Given the description of an element on the screen output the (x, y) to click on. 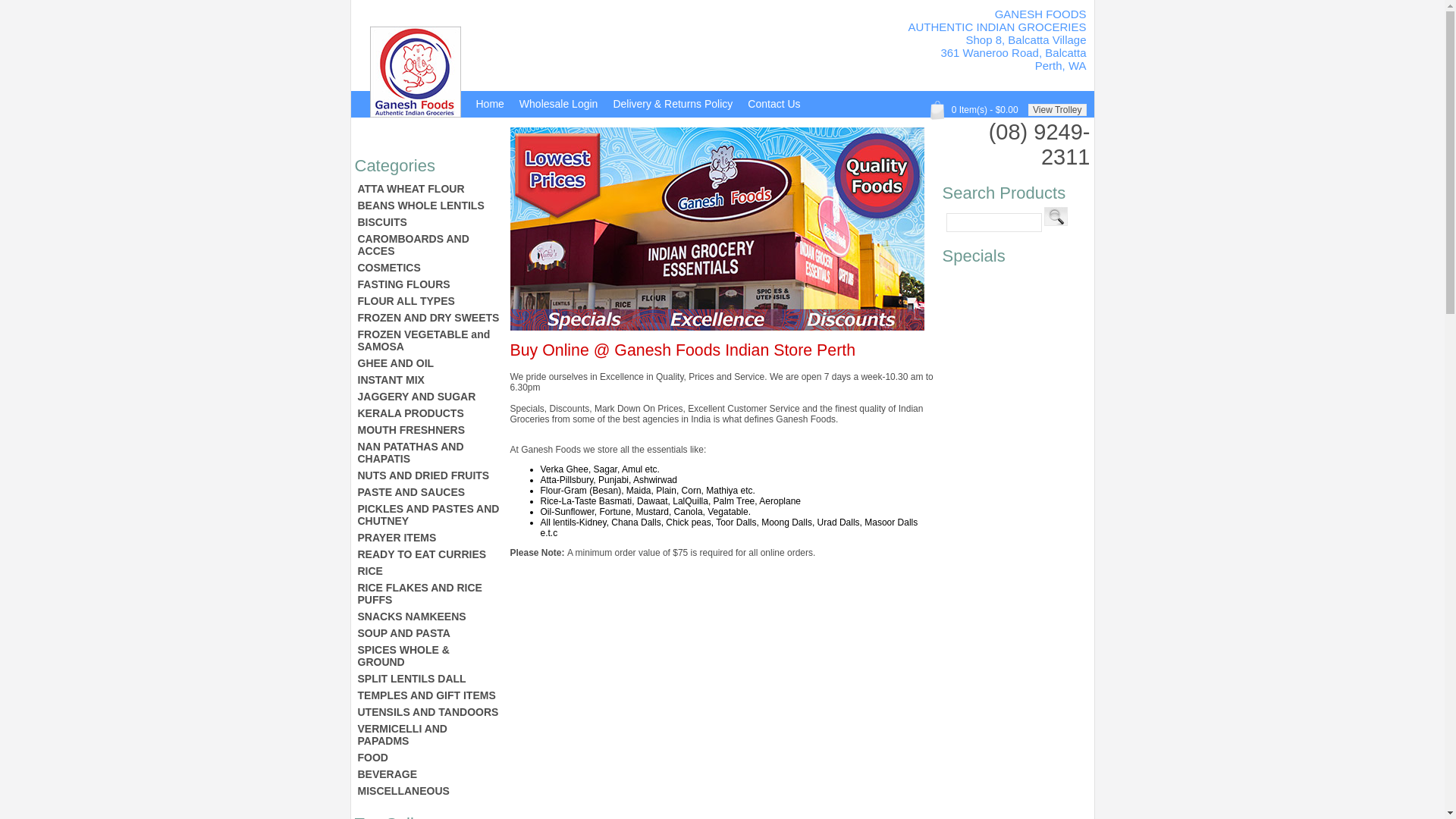
Delivery & Returns Policy Element type: text (672, 106)
READY TO EAT CURRIES Element type: text (428, 554)
COSMETICS Element type: text (428, 267)
PICKLES AND PASTES AND CHUTNEY Element type: text (428, 514)
Home Element type: text (490, 106)
RICE FLAKES AND RICE PUFFS Element type: text (428, 593)
SOUP AND PASTA Element type: text (428, 633)
SNACKS NAMKEENS Element type: text (428, 616)
FLOUR ALL TYPES Element type: text (428, 300)
FASTING FLOURS Element type: text (428, 284)
View Trolley Element type: text (1057, 109)
MOUTH FRESHNERS Element type: text (428, 429)
Contact Us Element type: text (773, 106)
MISCELLANEOUS Element type: text (428, 790)
GHEE AND OIL Element type: text (428, 363)
TEMPLES AND GIFT ITEMS Element type: text (428, 695)
NUTS AND DRIED FRUITS Element type: text (428, 475)
KERALA PRODUCTS Element type: text (428, 413)
BISCUITS Element type: text (428, 222)
SPICES WHOLE & GROUND Element type: text (428, 655)
VERMICELLI AND PAPADMS Element type: text (428, 734)
UTENSILS AND TANDOORS Element type: text (428, 712)
INSTANT MIX Element type: text (428, 379)
NAN PATATHAS AND CHAPATIS Element type: text (428, 452)
PASTE AND SAUCES Element type: text (428, 492)
PRAYER ITEMS Element type: text (428, 537)
RICE Element type: text (428, 570)
BEANS WHOLE LENTILS Element type: text (428, 205)
BEVERAGE Element type: text (428, 774)
FOOD Element type: text (428, 757)
CAROMBOARDS AND ACCES Element type: text (428, 244)
ATTA WHEAT FLOUR Element type: text (428, 188)
FROZEN AND DRY SWEETS Element type: text (428, 317)
SPLIT LENTILS DALL Element type: text (428, 678)
Wholesale Login Element type: text (558, 106)
JAGGERY AND SUGAR Element type: text (428, 396)
FROZEN VEGETABLE and SAMOSA Element type: text (428, 340)
